Given the description of an element on the screen output the (x, y) to click on. 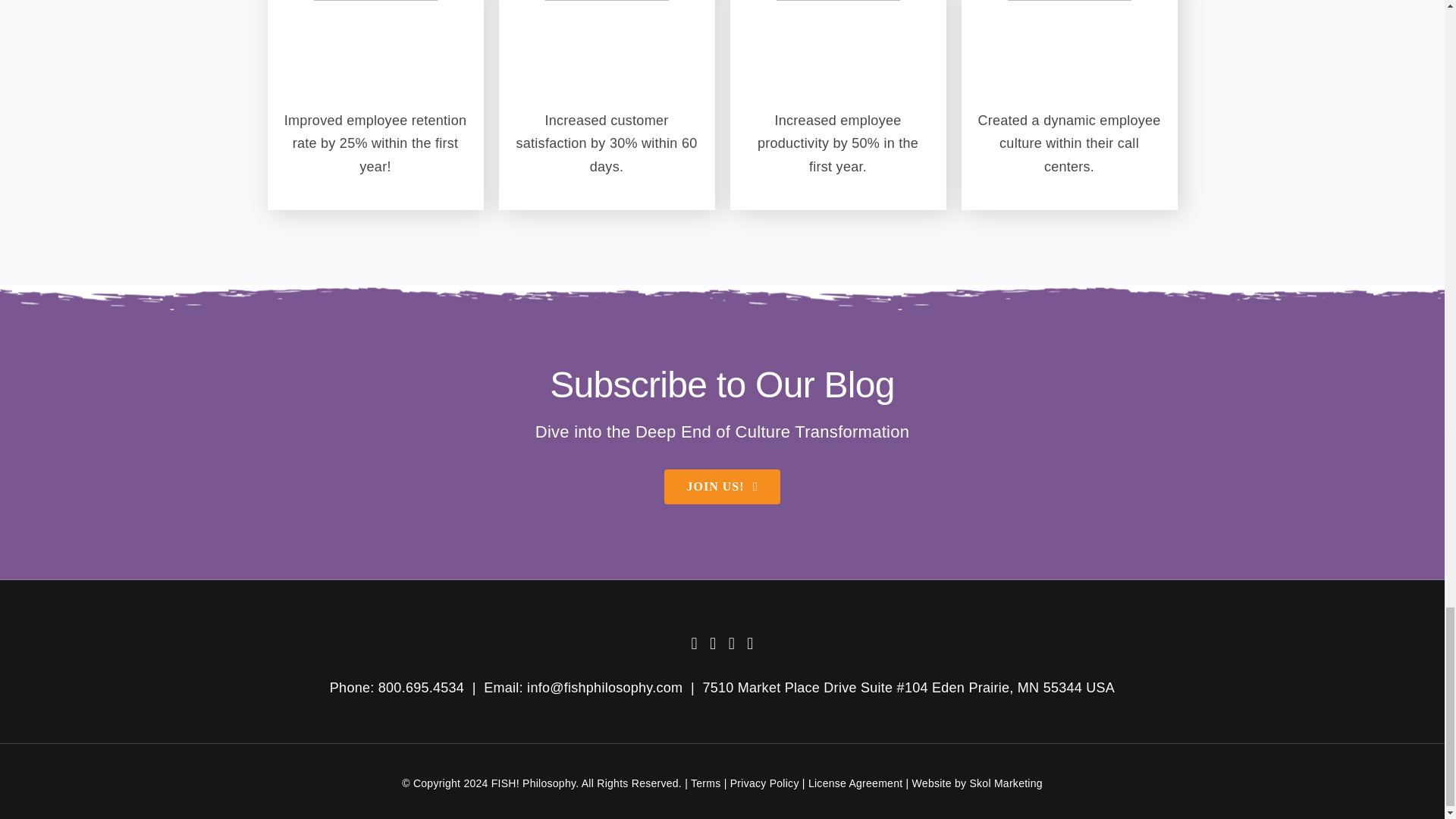
fishatwork1 (376, 54)
fishatwork3 (837, 54)
fishatwork2 (606, 54)
fishatwork4 (1069, 54)
